Given the description of an element on the screen output the (x, y) to click on. 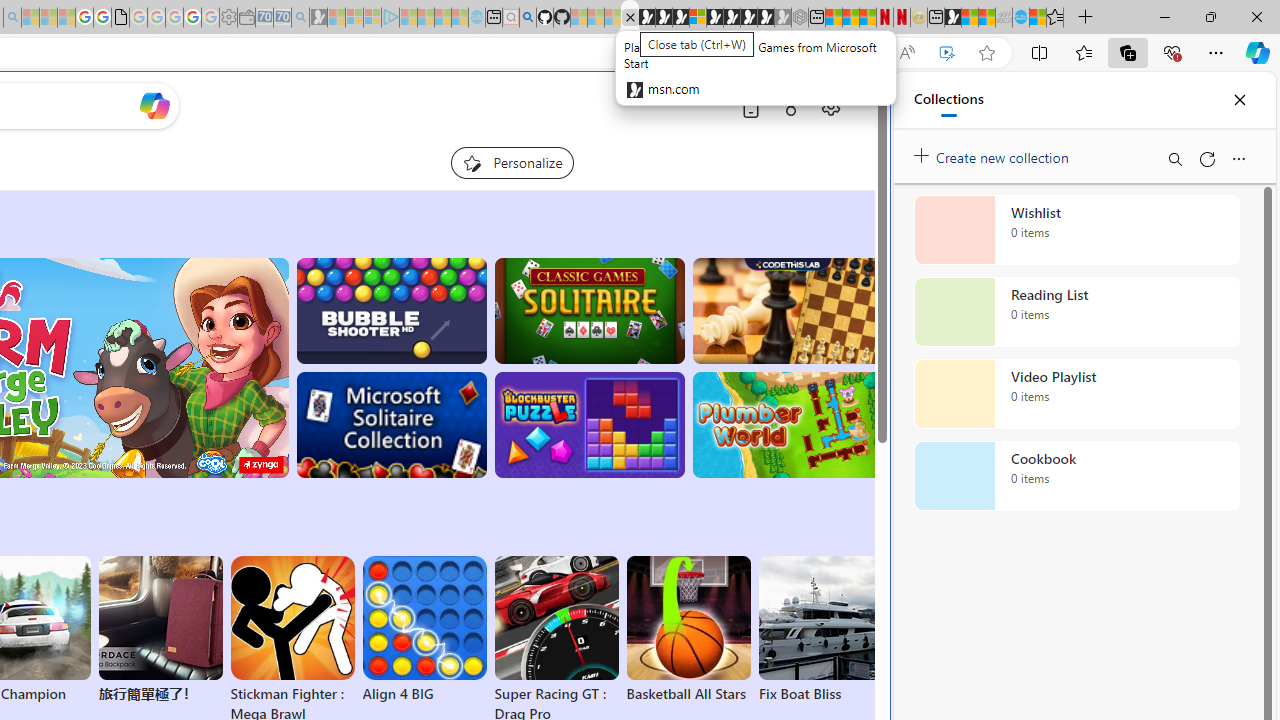
Basketball All Stars (688, 629)
Microsoft Solitaire Collection (390, 425)
